Given the description of an element on the screen output the (x, y) to click on. 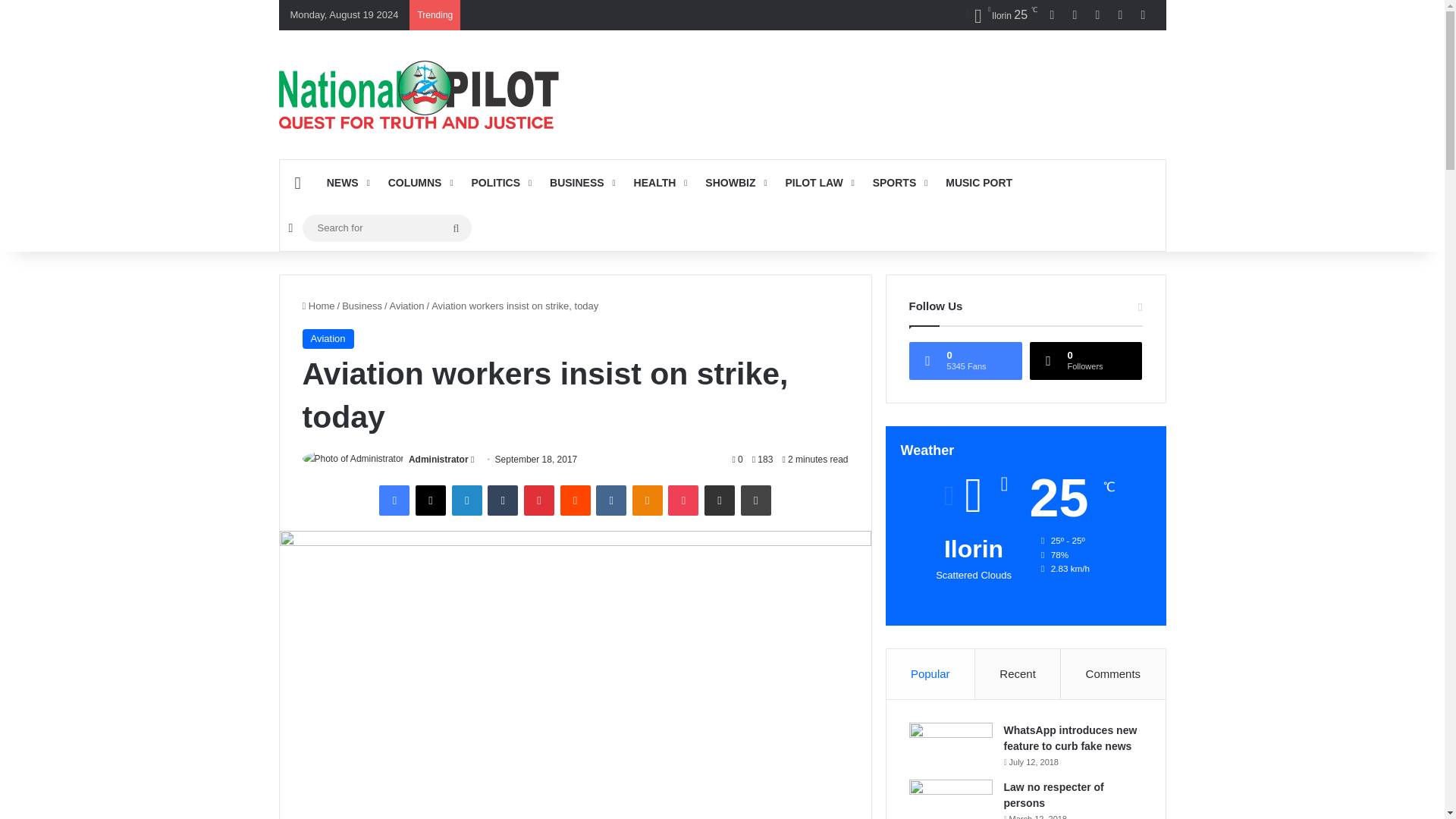
Administrator (438, 459)
Search for (385, 227)
Scattered Clouds (999, 15)
Reddit (574, 500)
Facebook (393, 500)
COLUMNS (419, 182)
Tumblr (502, 500)
X (429, 500)
Pinterest (539, 500)
LinkedIn (466, 500)
